Given the description of an element on the screen output the (x, y) to click on. 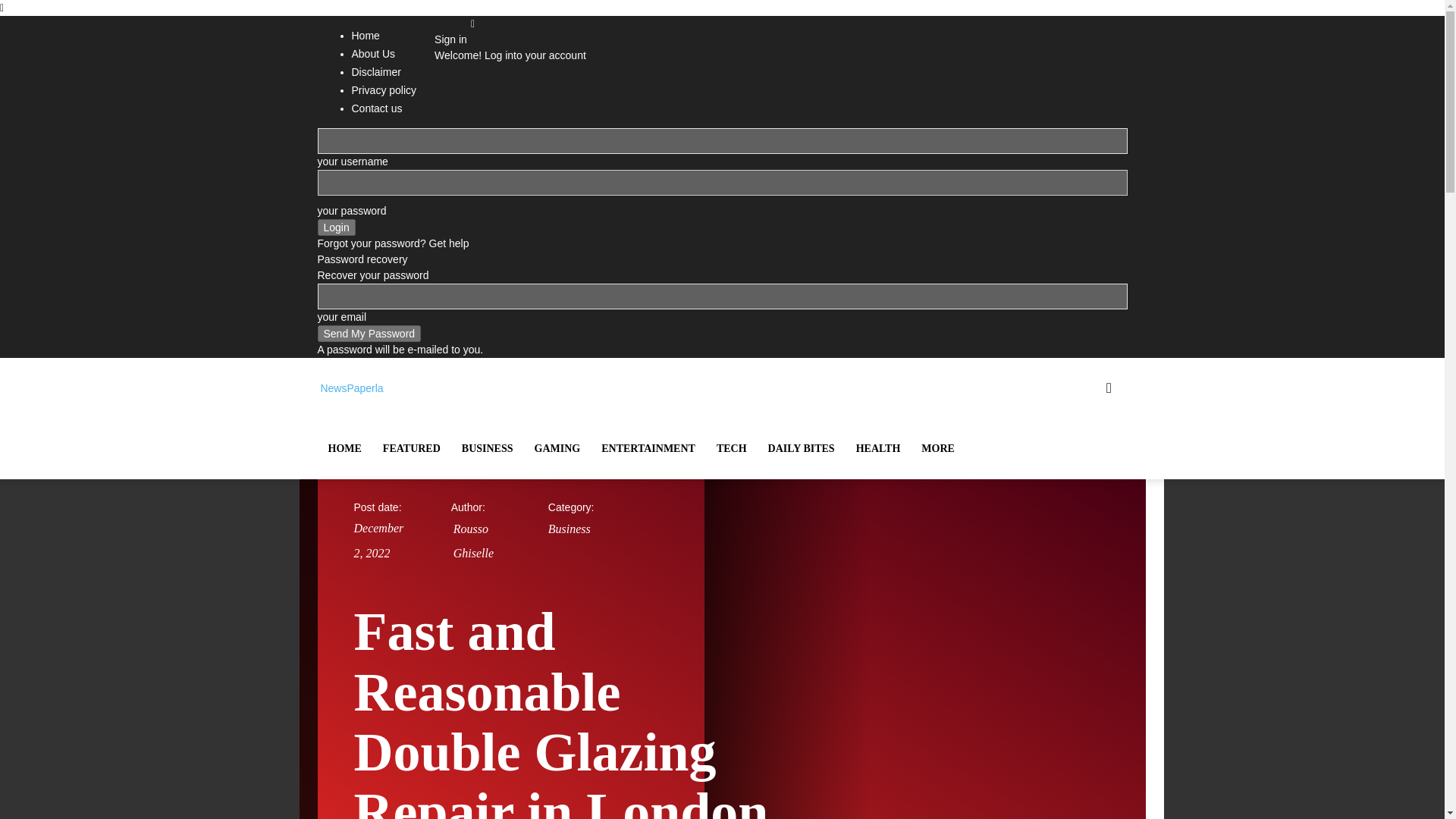
Privacy policy (384, 90)
Disclaimer (376, 71)
NewsPaperla (349, 387)
Send My Password (368, 333)
HOME (344, 448)
Home (366, 35)
Contact us (377, 108)
Login (336, 227)
About Us (374, 53)
Forgot your password? Get help (392, 243)
Search (1085, 460)
